Given the description of an element on the screen output the (x, y) to click on. 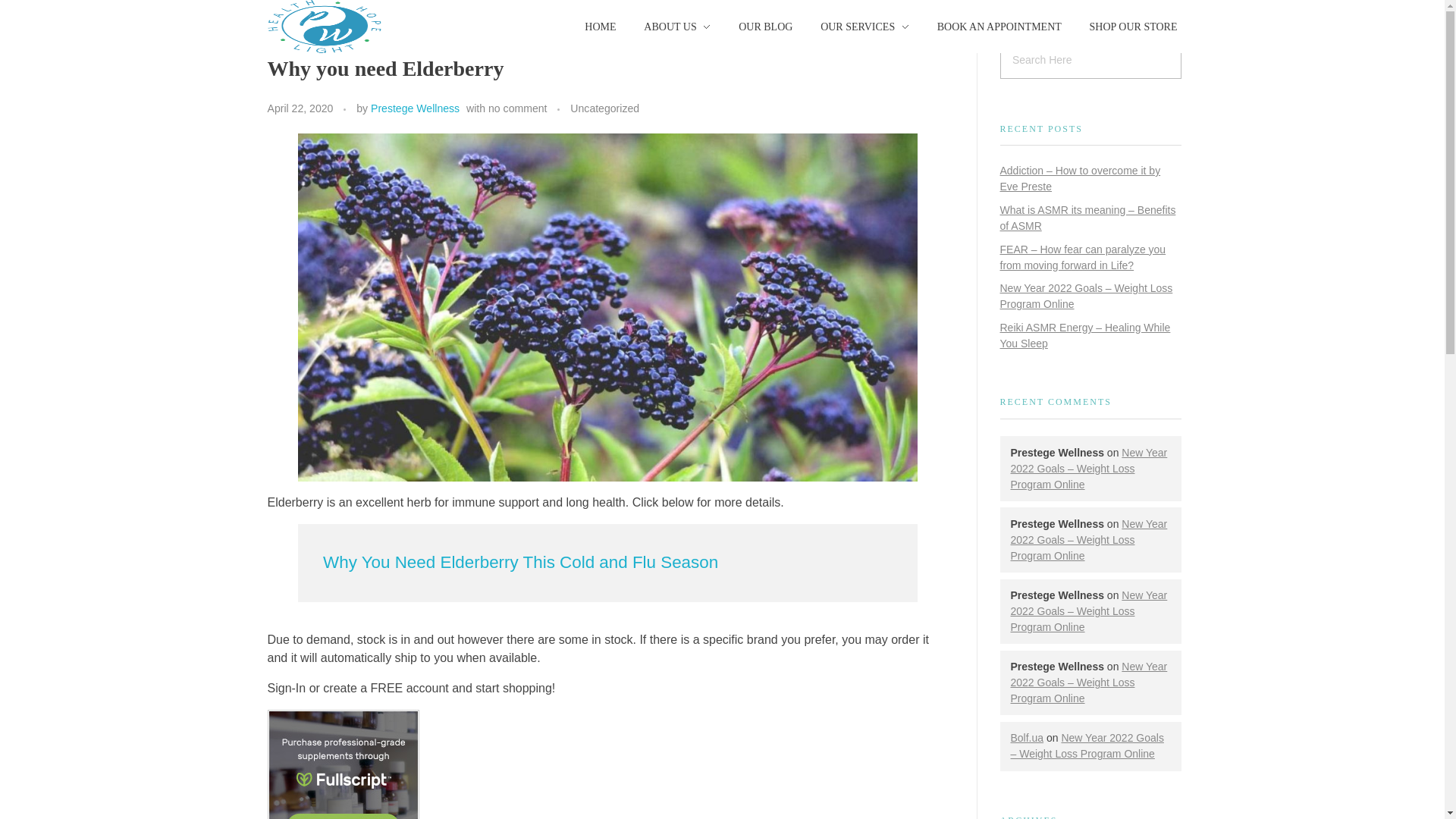
ABOUT US (677, 26)
Prestege Wellness (415, 108)
Why You Need Elderberry This Cold and Flu Season (520, 561)
BOOK AN APPOINTMENT (999, 26)
View all posts by Prestege Wellness (415, 108)
OUR BLOG (765, 26)
SHOP OUR STORE (1125, 26)
OUR SERVICES (864, 26)
View all posts in Uncategorized (604, 108)
Uncategorized (604, 108)
